Given the description of an element on the screen output the (x, y) to click on. 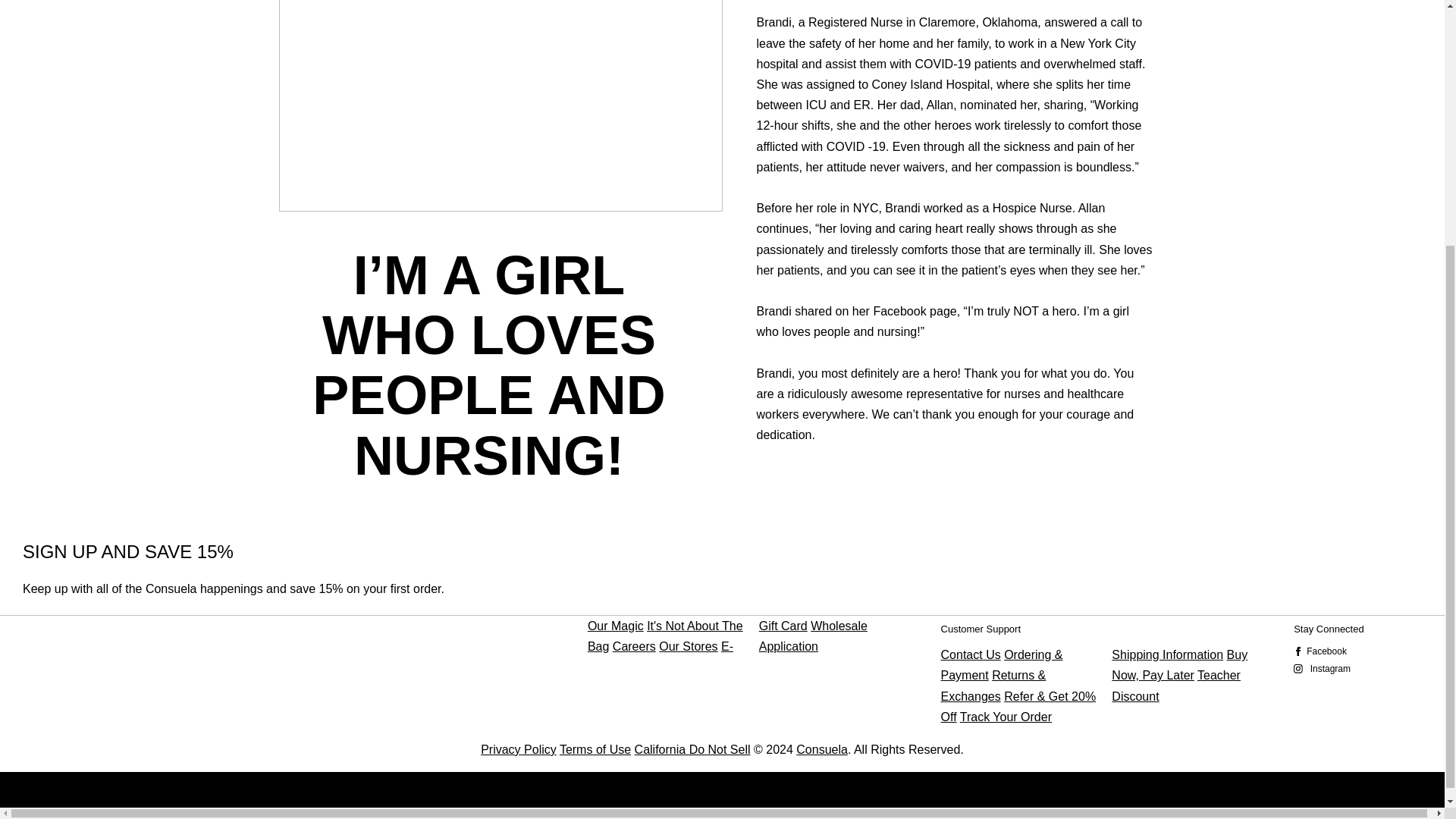
Link to Instagram (1358, 671)
Link to Facebook (1358, 653)
